Given the description of an element on the screen output the (x, y) to click on. 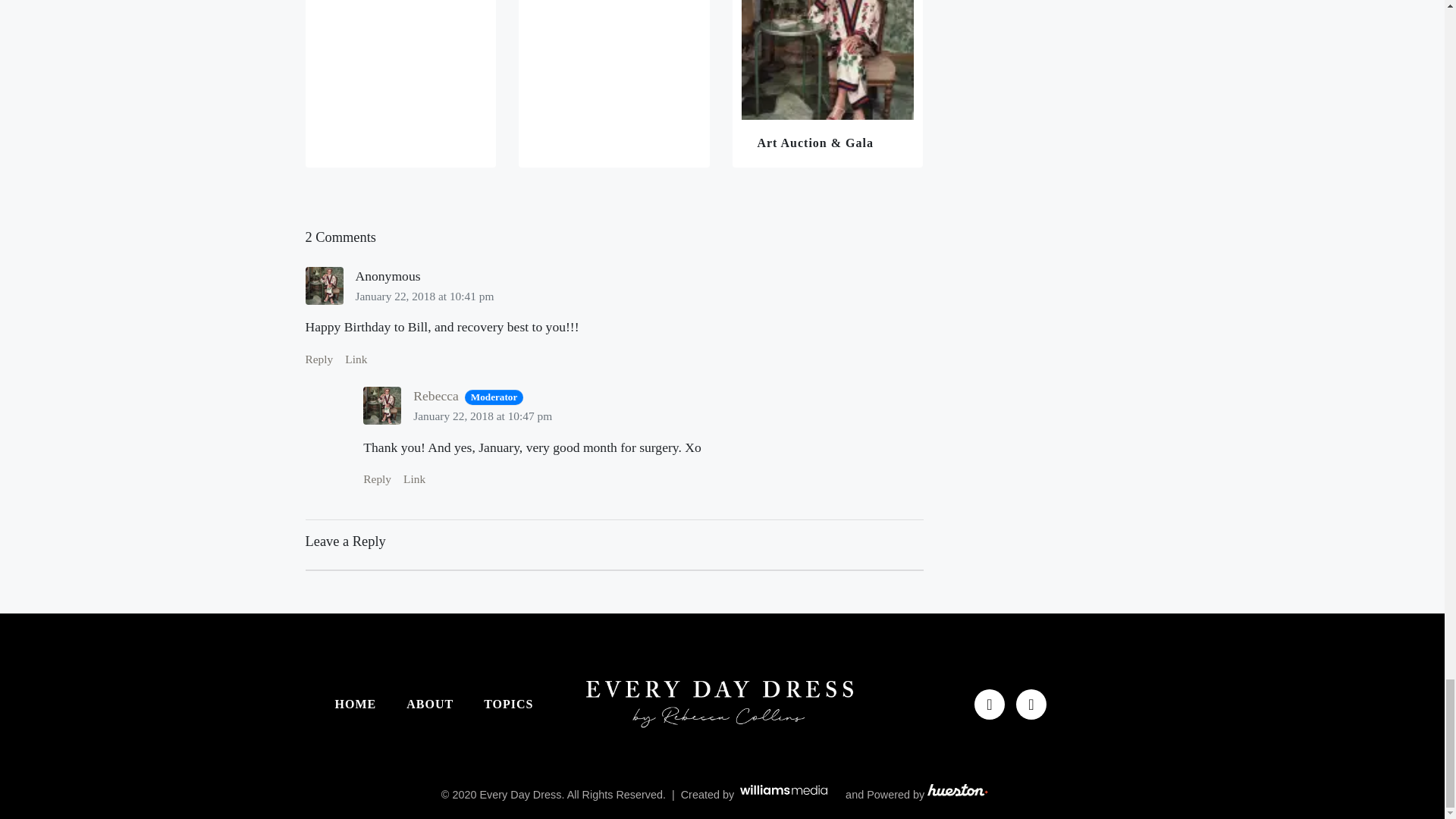
Reply (376, 478)
Reply (318, 358)
Link (414, 478)
Cake Cake Cake (400, 83)
On The Road (614, 83)
Link (355, 358)
Rebecca (435, 395)
